Given the description of an element on the screen output the (x, y) to click on. 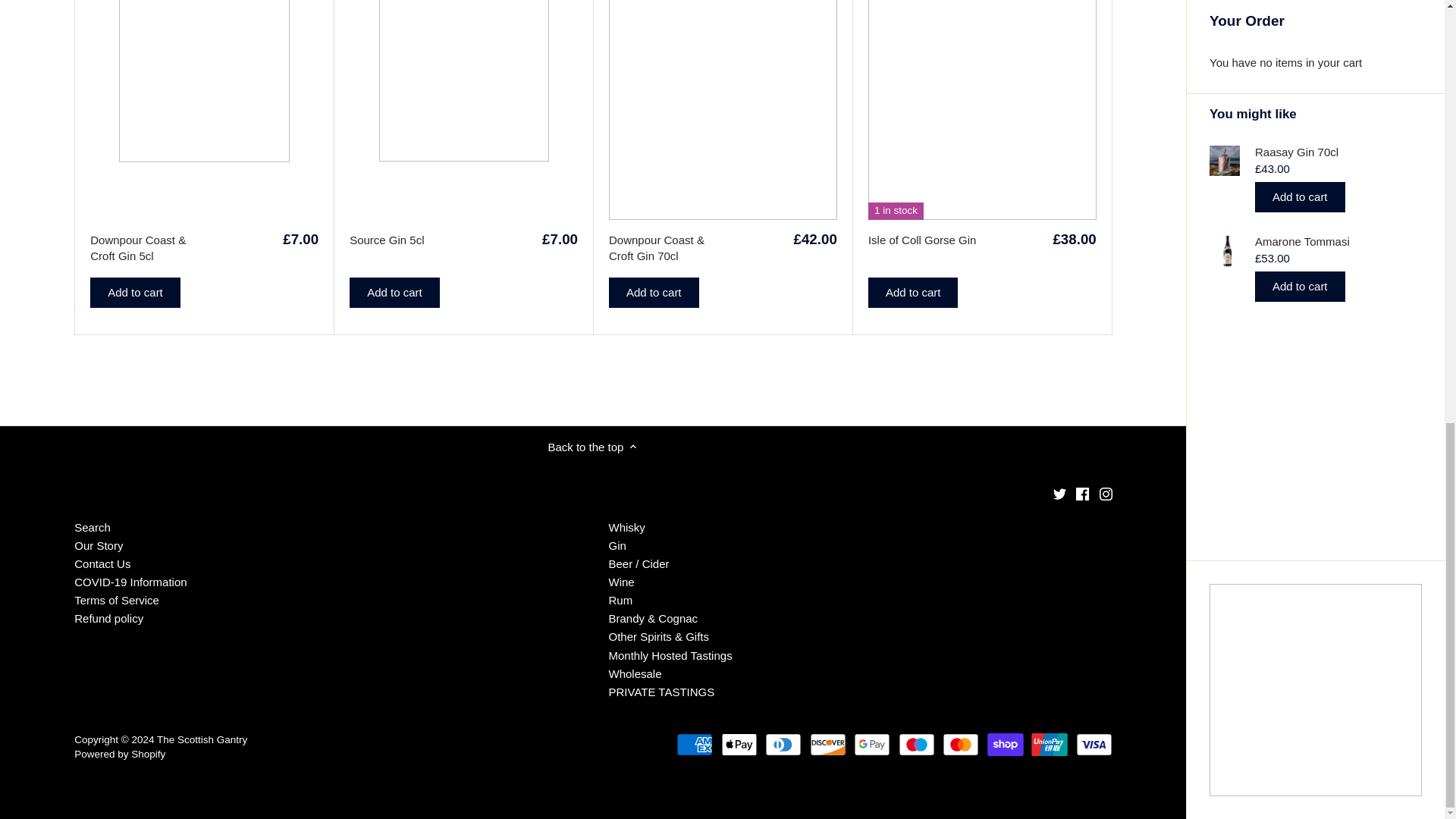
Facebook (1082, 493)
Twitter (1058, 493)
Instagram (1105, 493)
